Given the description of an element on the screen output the (x, y) to click on. 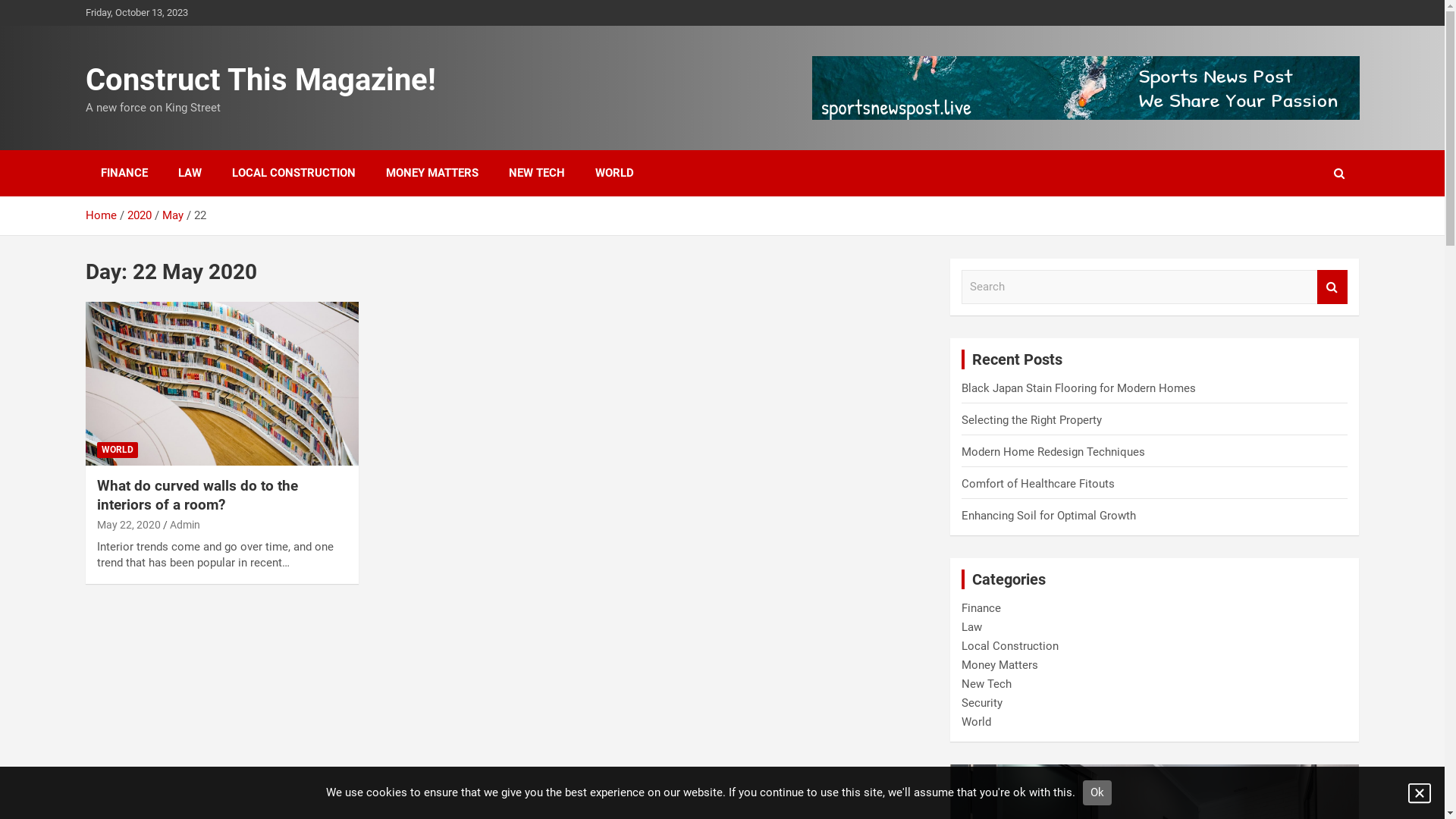
May 22, 2020 Element type: text (128, 524)
Black Japan Stain Flooring for Modern Homes    Element type: text (1082, 388)
WORLD Element type: text (117, 450)
2020 Element type: text (139, 215)
WORLD Element type: text (613, 173)
Construct This Magazine! Element type: text (259, 79)
May Element type: text (172, 215)
Ok Element type: text (1096, 792)
Admin Element type: text (184, 524)
LAW Element type: text (189, 173)
Enhancing Soil for Optimal Growth Element type: text (1048, 515)
Local Construction Element type: text (1009, 645)
Modern Home Redesign Techniques Element type: text (1053, 451)
What do curved walls do to the interiors of a room? Element type: hover (220, 382)
MONEY MATTERS Element type: text (431, 173)
NEW TECH Element type: text (535, 173)
Law Element type: text (971, 626)
FINANCE Element type: text (123, 173)
LOCAL CONSTRUCTION Element type: text (293, 173)
Home Element type: text (100, 215)
What do curved walls do to the interiors of a room? Element type: text (197, 494)
Selecting the Right Property Element type: text (1031, 419)
Finance Element type: text (981, 608)
Money Matters Element type: text (999, 664)
Search Element type: text (1332, 286)
Comfort of Healthcare Fitouts Element type: text (1037, 483)
Security Element type: text (981, 702)
New Tech Element type: text (986, 683)
World Element type: text (976, 721)
